Given the description of an element on the screen output the (x, y) to click on. 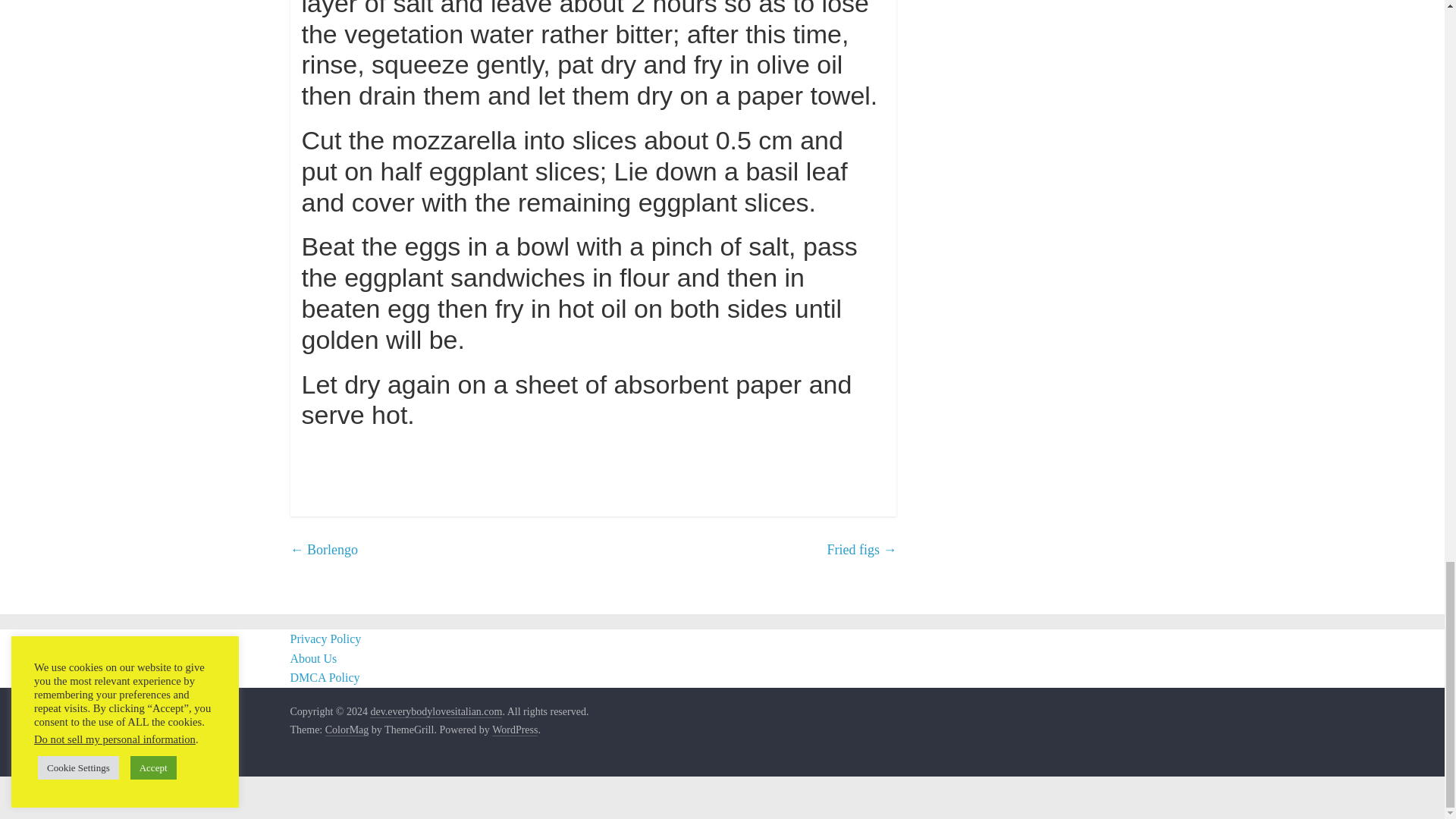
Privacy Policy (325, 638)
ColorMag (346, 729)
DMCA Policy (324, 676)
About Us (312, 658)
dev.everybodylovesitalian.com (435, 711)
WordPress (514, 729)
